Given the description of an element on the screen output the (x, y) to click on. 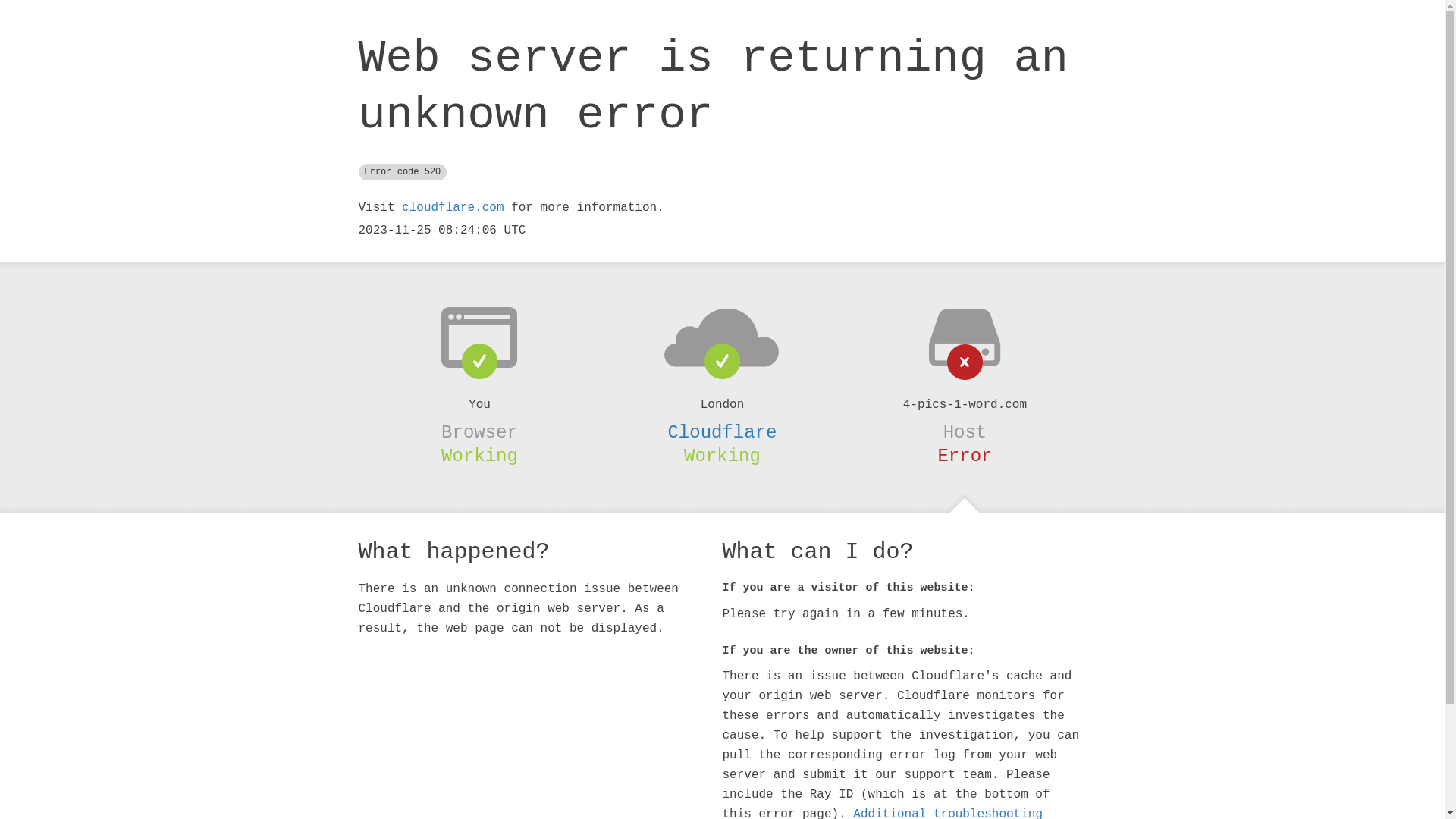
cloudflare.com Element type: text (452, 207)
Cloudflare Element type: text (721, 432)
